Given the description of an element on the screen output the (x, y) to click on. 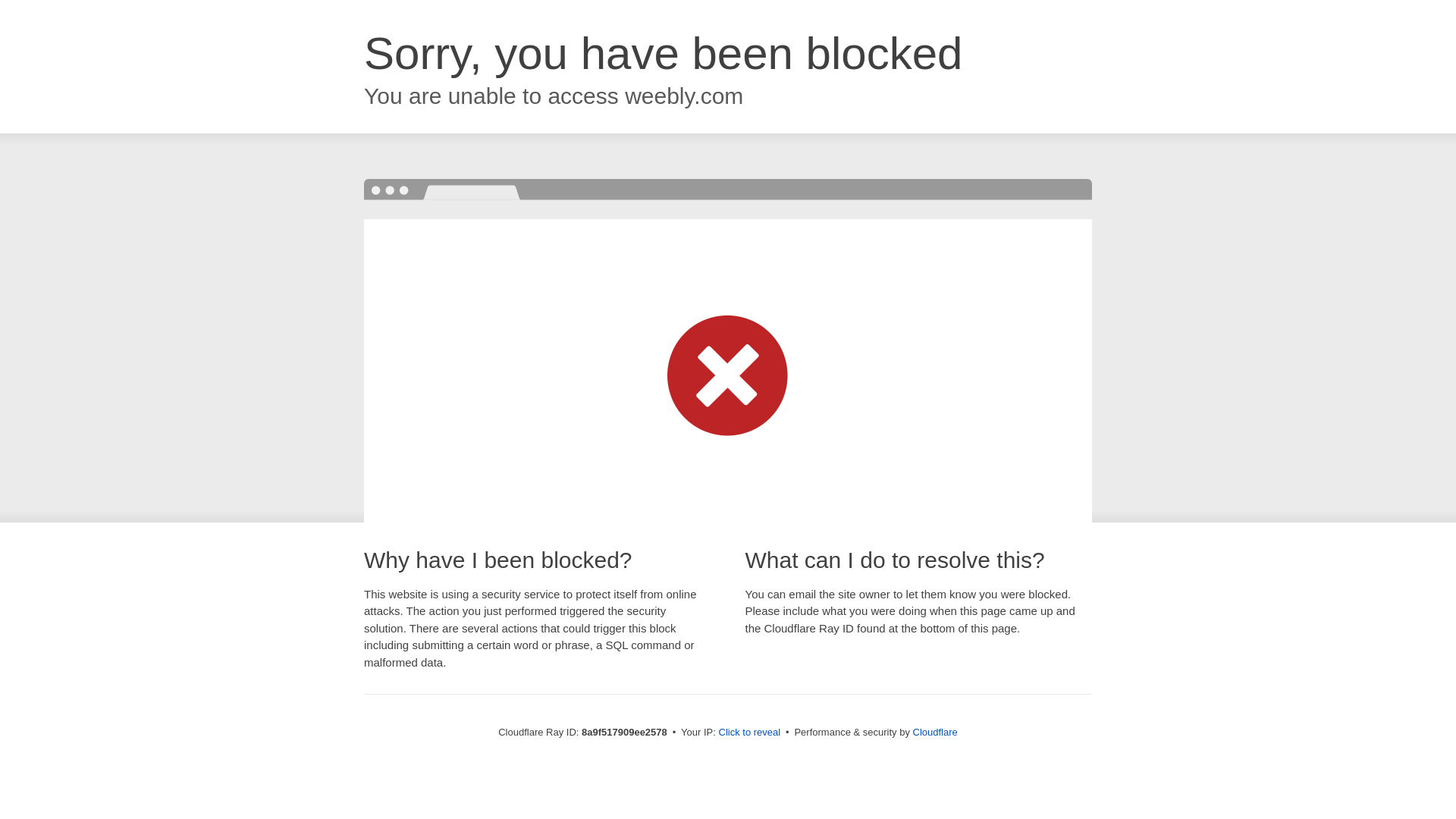
Click to reveal (749, 732)
Cloudflare (935, 731)
